Given the description of an element on the screen output the (x, y) to click on. 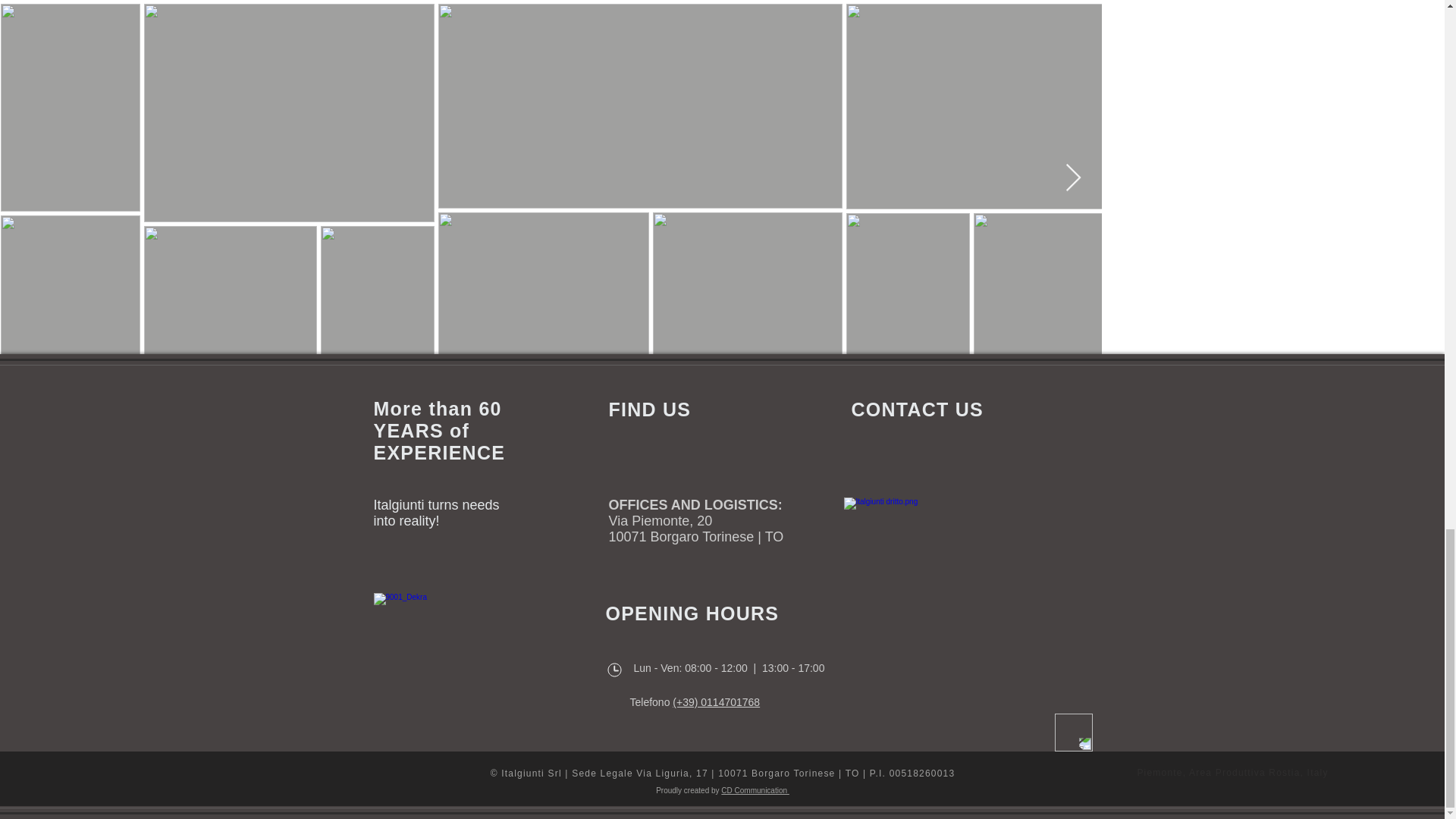
CD Communication  (754, 790)
